Given the description of an element on the screen output the (x, y) to click on. 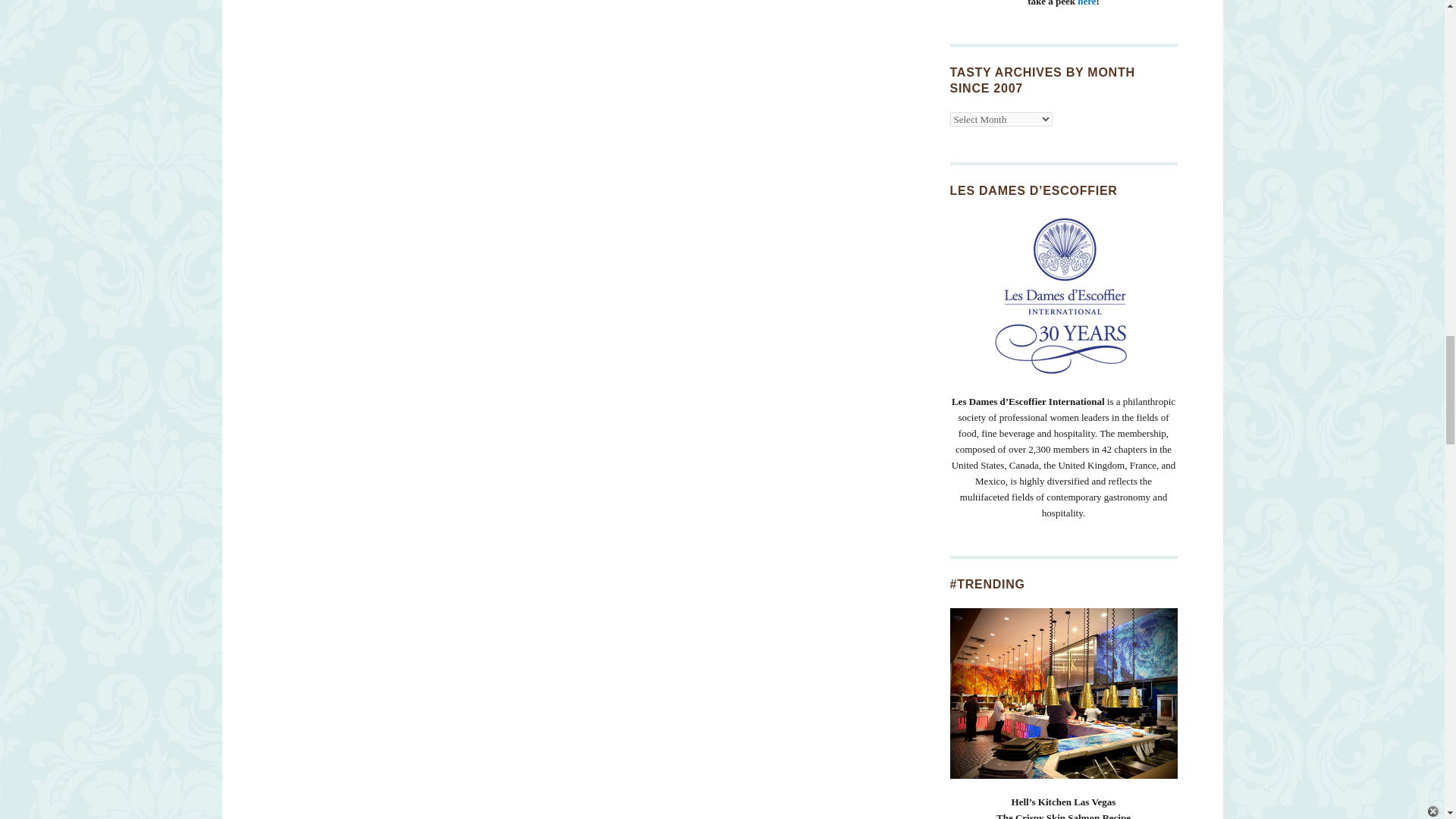
here (1086, 3)
